Given the description of an element on the screen output the (x, y) to click on. 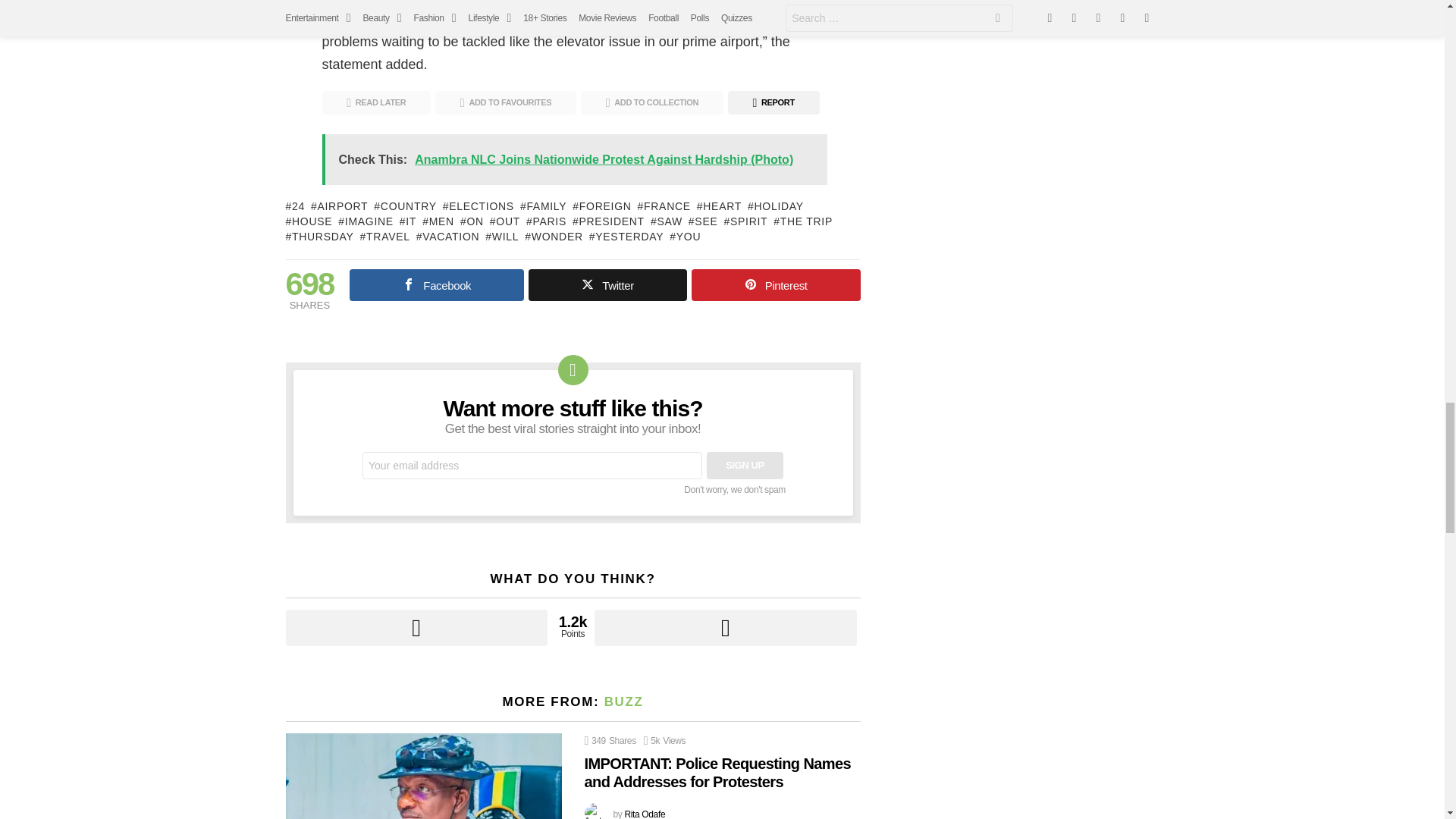
Sign up (744, 465)
